Given the description of an element on the screen output the (x, y) to click on. 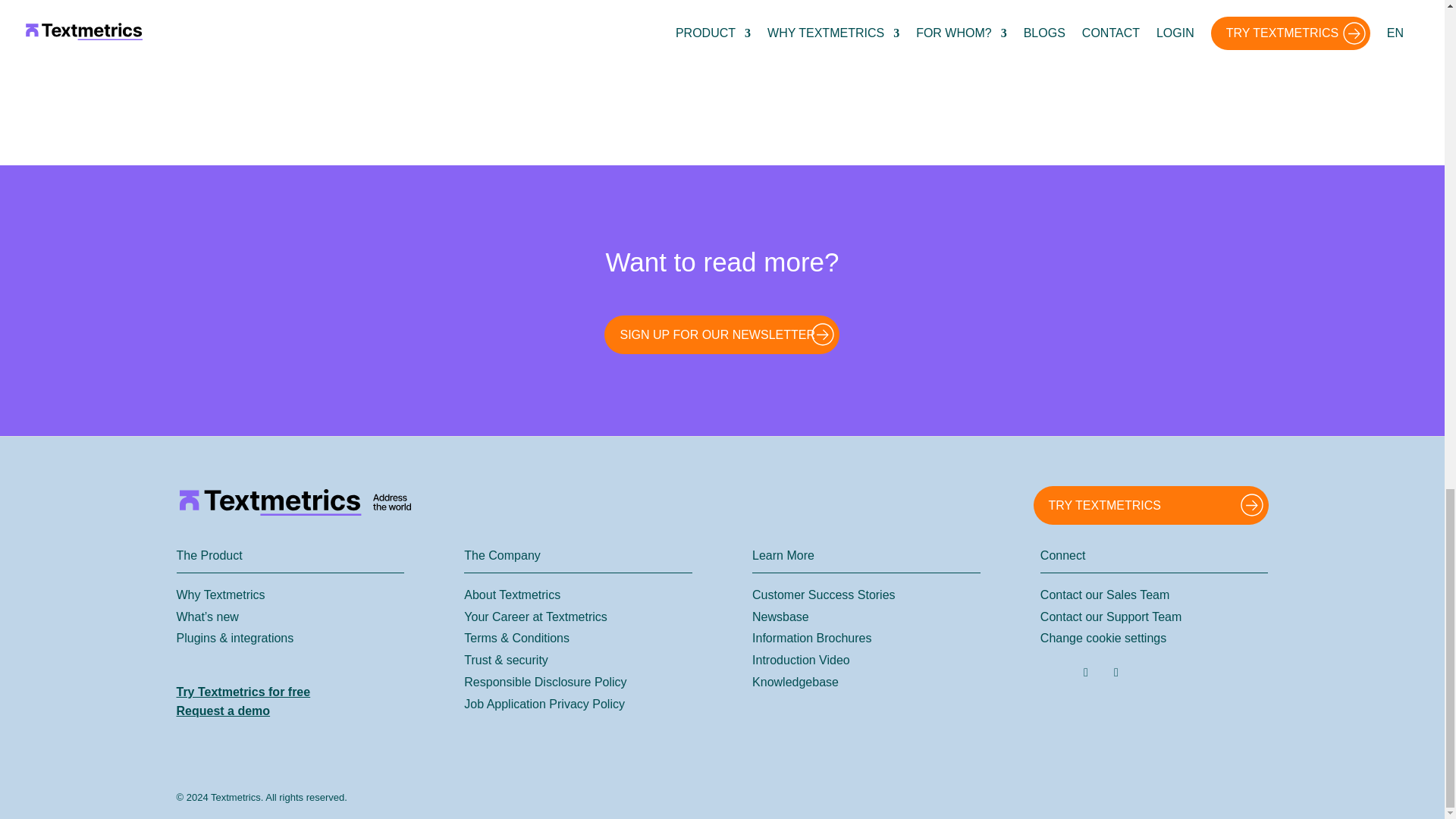
About Textmetrics (512, 594)
Responsible Disclosure Policy (545, 681)
SIGN UP FOR OUR NEWSLETTER (722, 334)
Try Textmetrics for free (243, 692)
Customer Success Stories (823, 594)
Job Application Privacy Policy (544, 703)
Your Career at Textmetrics (535, 616)
Why Textmetrics (220, 594)
Request a demo (222, 710)
TRY TEXTMETRICS (1150, 505)
Newsbase (780, 616)
